Given the description of an element on the screen output the (x, y) to click on. 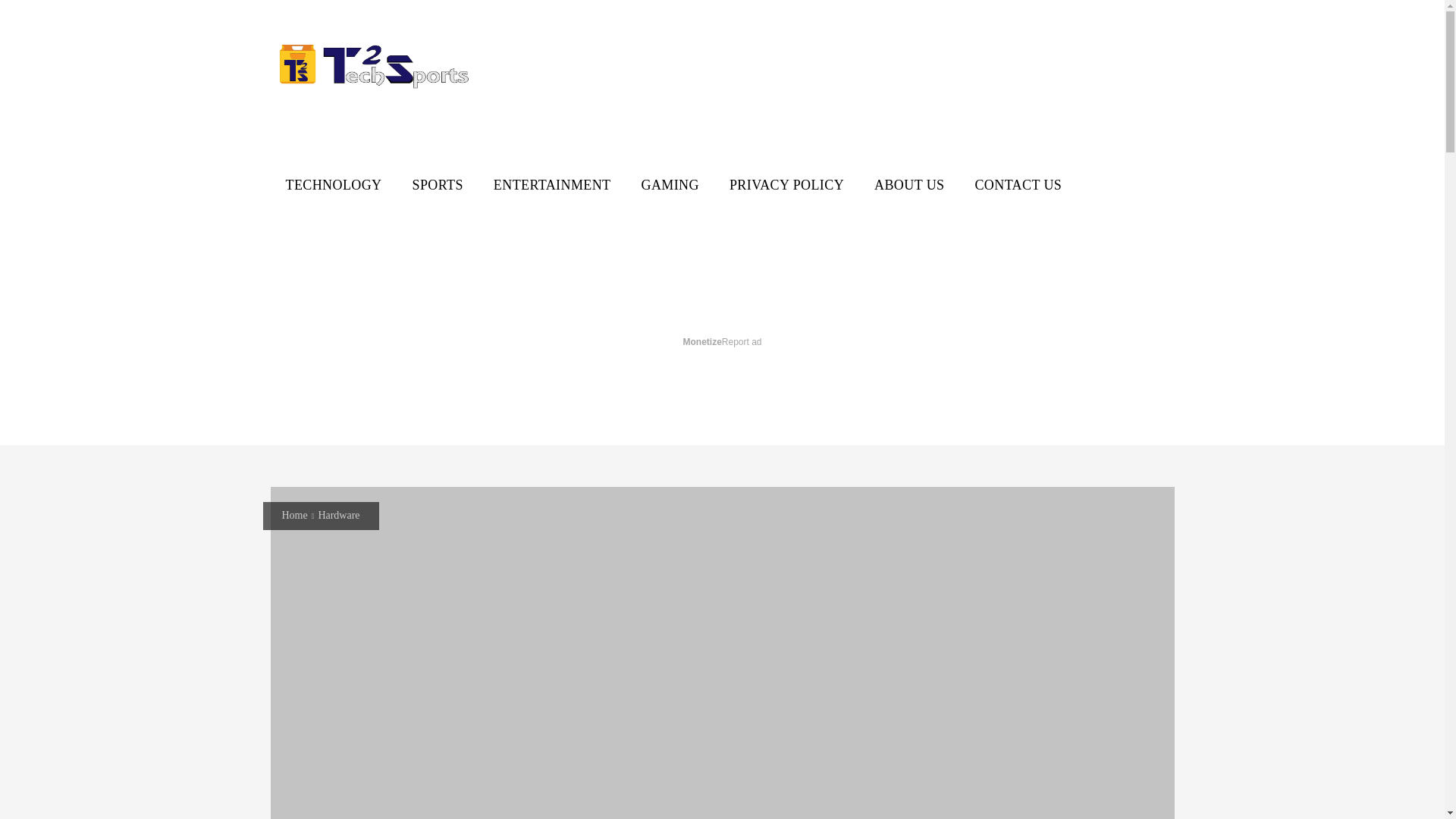
TECHNOLOGY (332, 185)
SPORTS (438, 185)
ENTERTAINMENT (552, 185)
